Given the description of an element on the screen output the (x, y) to click on. 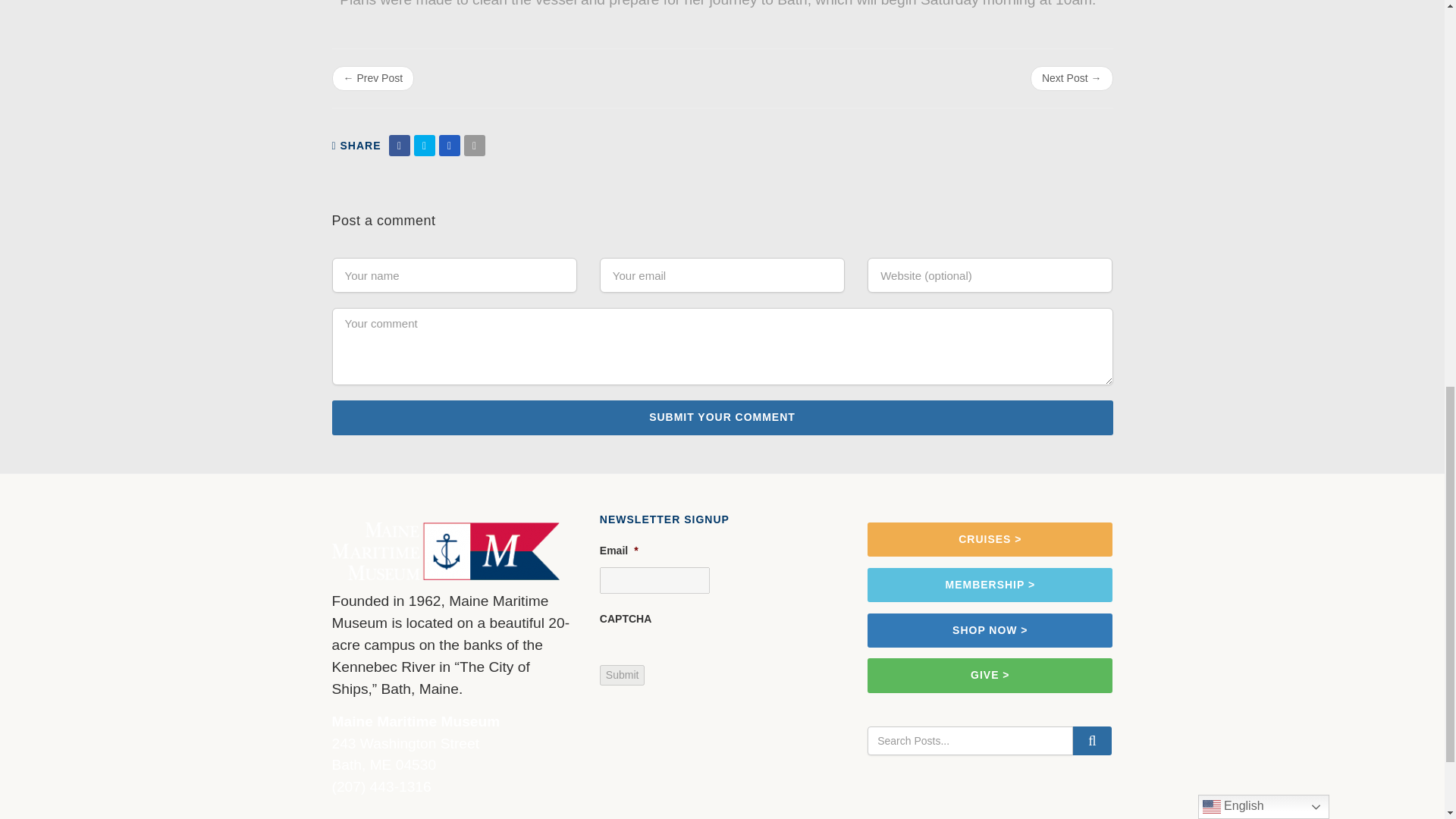
Tweet (424, 145)
Submit your comment (722, 417)
Email (474, 145)
Submit (622, 675)
Share on Facebook (399, 145)
